Given the description of an element on the screen output the (x, y) to click on. 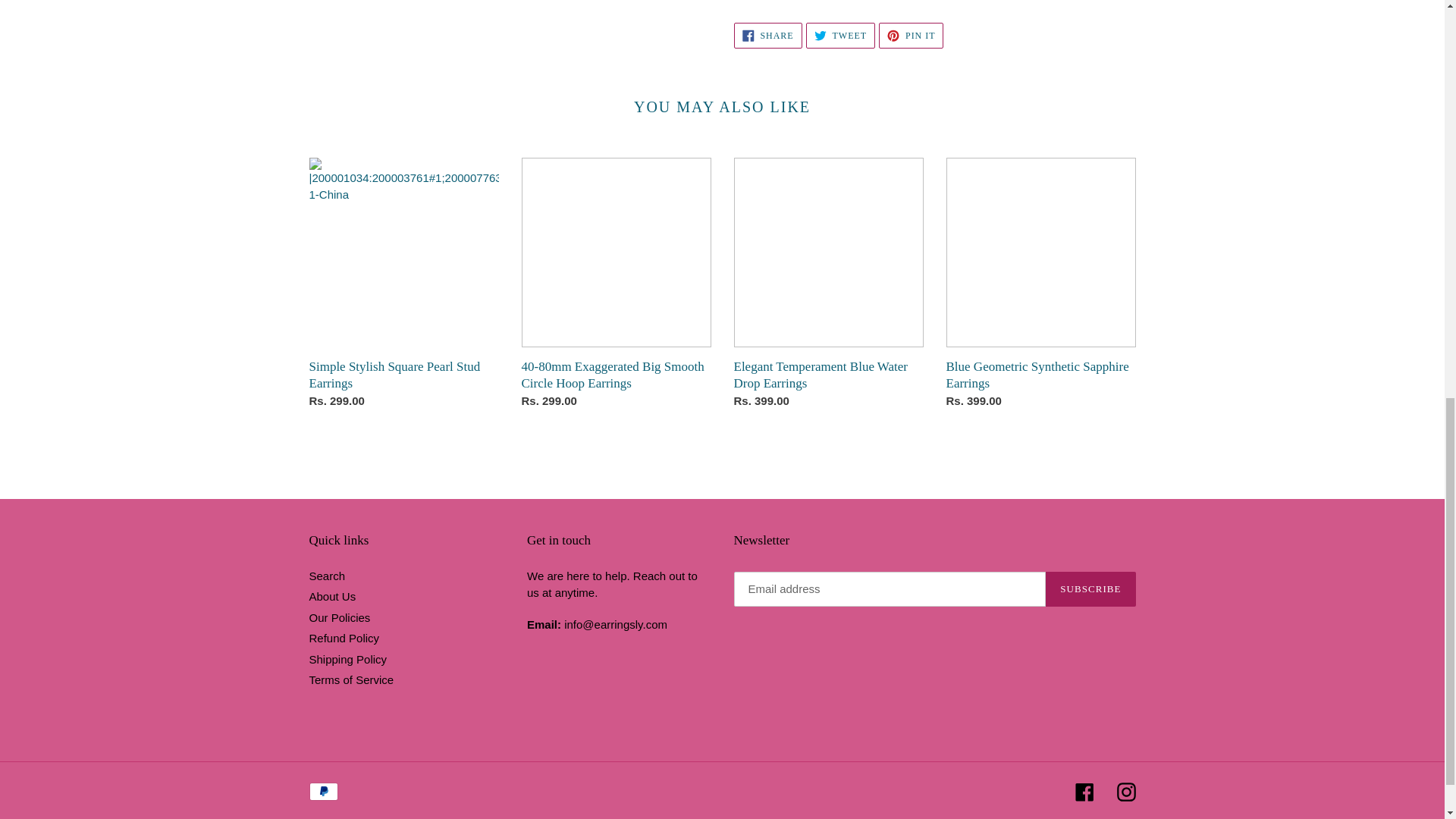
Elegant Temperament Blue Water Drop Earrings (828, 287)
About Us (840, 35)
Blue Geometric Synthetic Sapphire Earrings (767, 35)
Simple Stylish Square Pearl Stud Earrings (332, 595)
Search (911, 35)
40-80mm Exaggerated Big Smooth Circle Hoop Earrings (1040, 287)
